Given the description of an element on the screen output the (x, y) to click on. 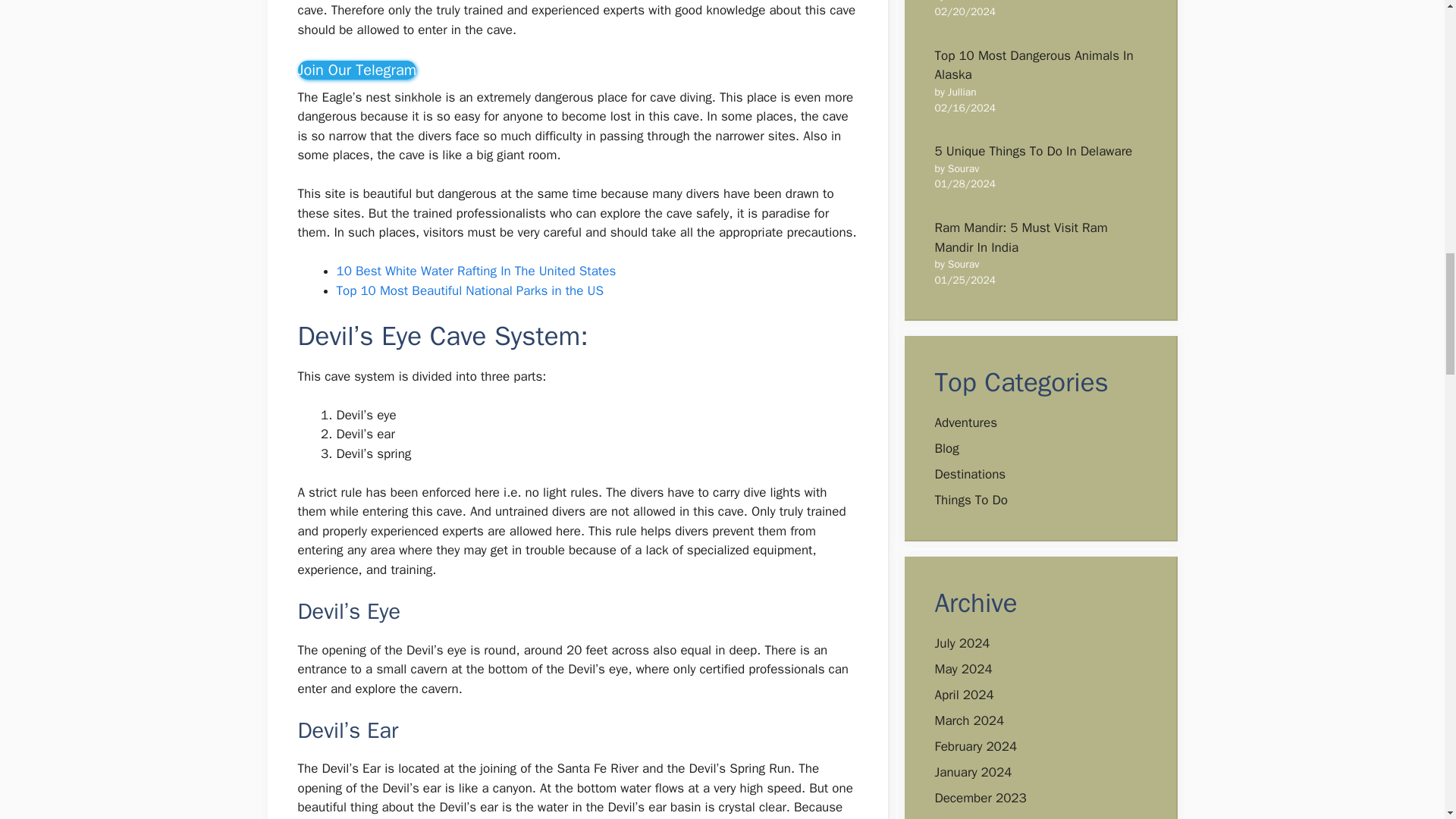
Join Our Telegram (356, 69)
Top 10 Most Beautiful National Parks in the US (470, 290)
Travel For Go (356, 69)
10 Best White Water Rafting In The United States (475, 270)
